Given the description of an element on the screen output the (x, y) to click on. 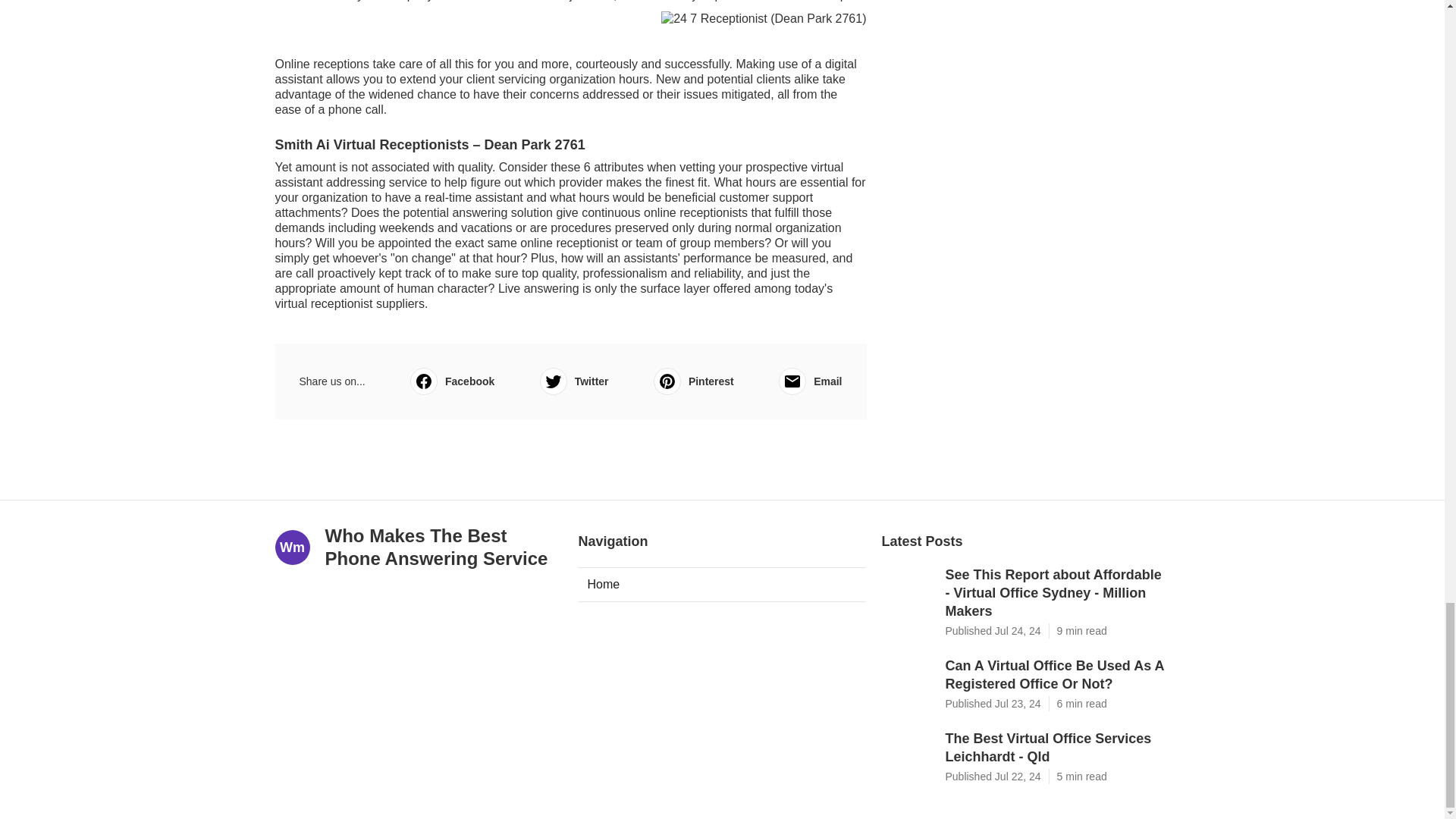
The Best Virtual Office Services Leichhardt - Qld (1056, 747)
Pinterest (693, 380)
Can A Virtual Office Be Used As A Registered Office Or Not? (1056, 674)
Facebook (452, 380)
Email (809, 380)
Home (722, 584)
Twitter (574, 380)
